Given the description of an element on the screen output the (x, y) to click on. 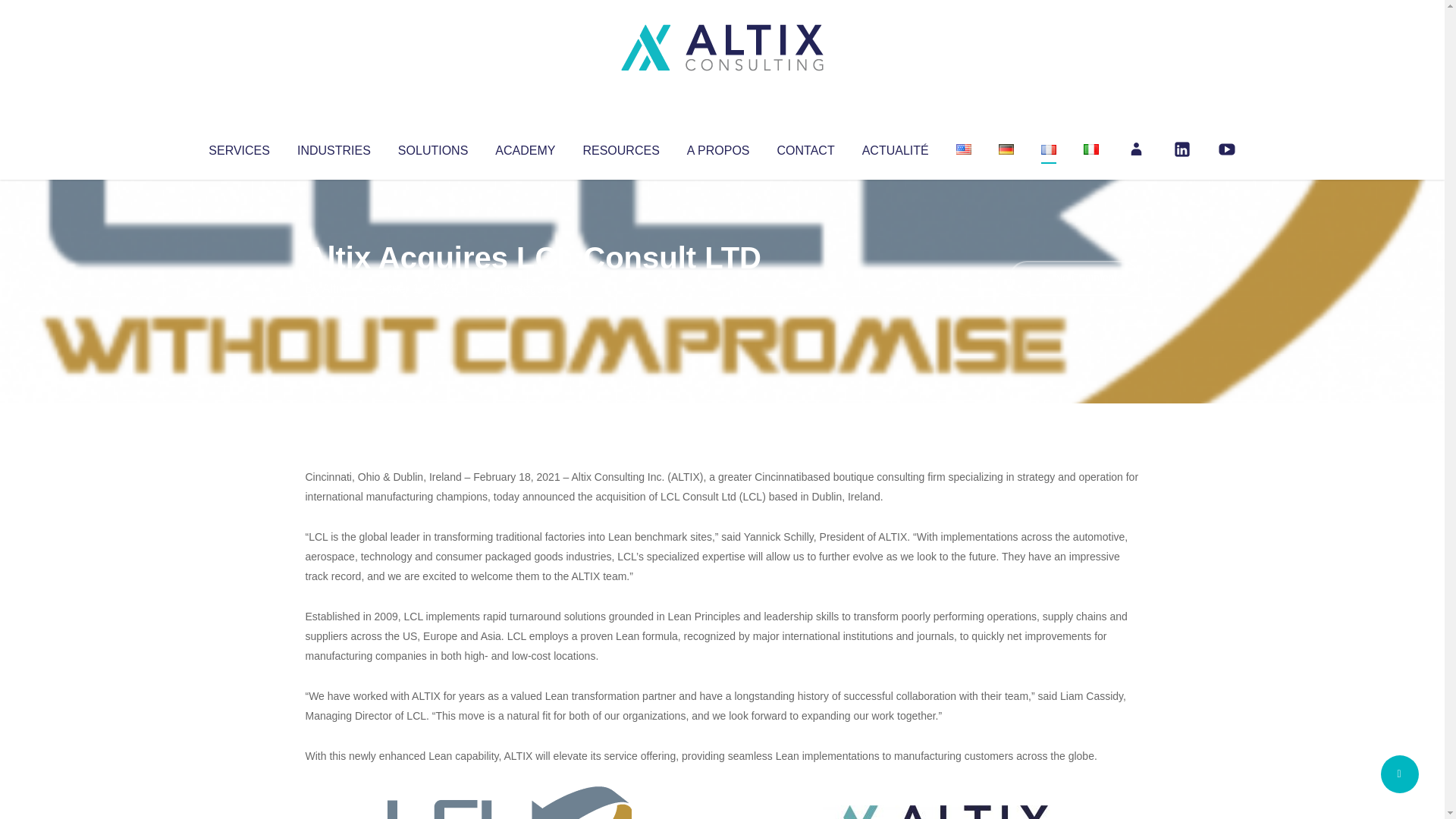
Articles par Altix (333, 287)
No Comments (1073, 278)
Altix (333, 287)
SERVICES (238, 146)
RESOURCES (620, 146)
ACADEMY (524, 146)
A PROPOS (718, 146)
Uncategorized (530, 287)
SOLUTIONS (432, 146)
INDUSTRIES (334, 146)
